Given the description of an element on the screen output the (x, y) to click on. 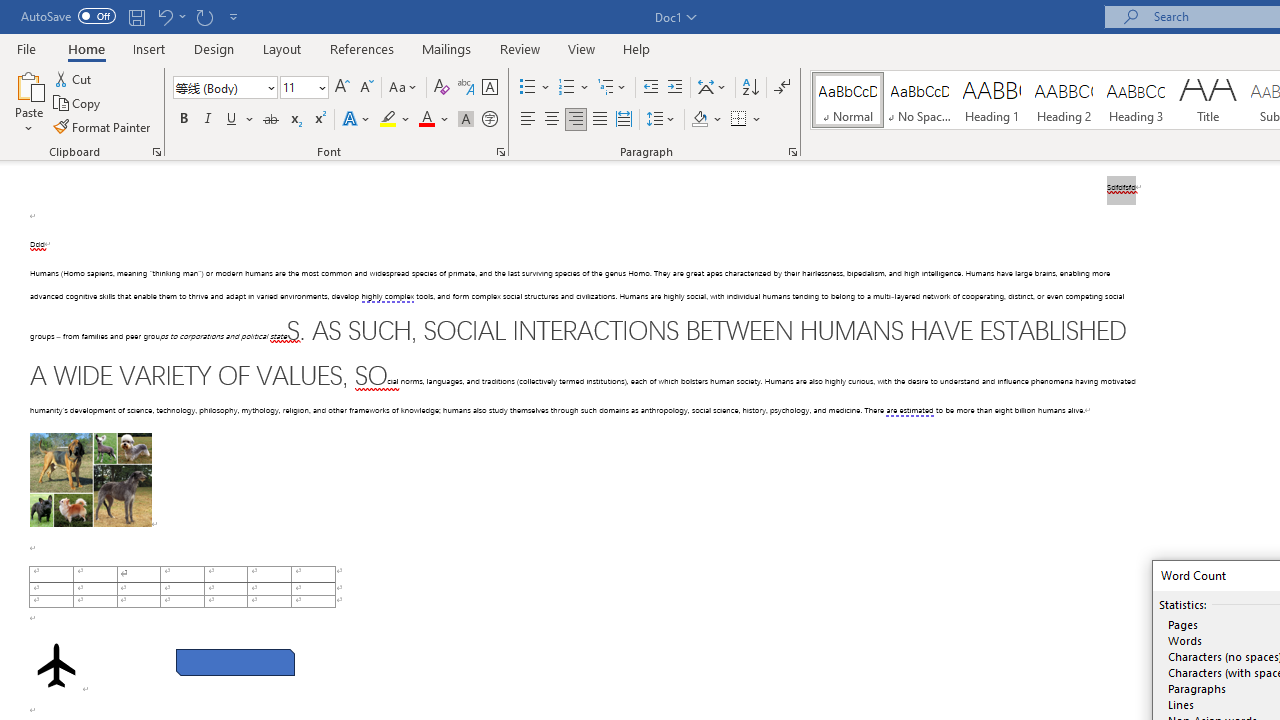
Font Color Red (426, 119)
